Given the description of an element on the screen output the (x, y) to click on. 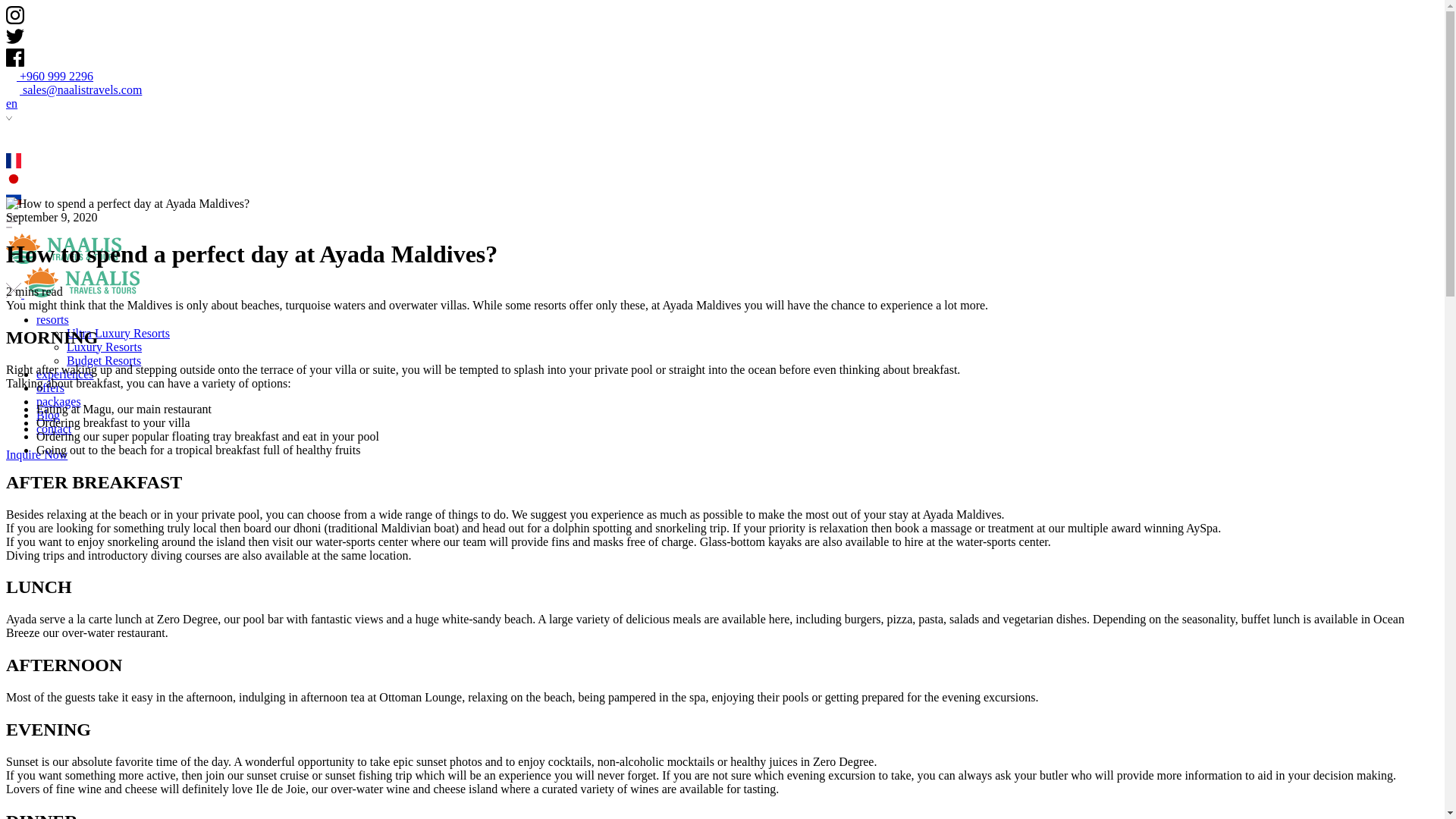
offers (50, 387)
resorts (52, 318)
contact (53, 428)
experiences (65, 373)
packages (58, 400)
Blog (47, 414)
Ultra Luxury Resorts (118, 332)
close menu (14, 293)
Luxury Resorts (103, 346)
Inquire Now (35, 454)
Budget Resorts (103, 359)
